Given the description of an element on the screen output the (x, y) to click on. 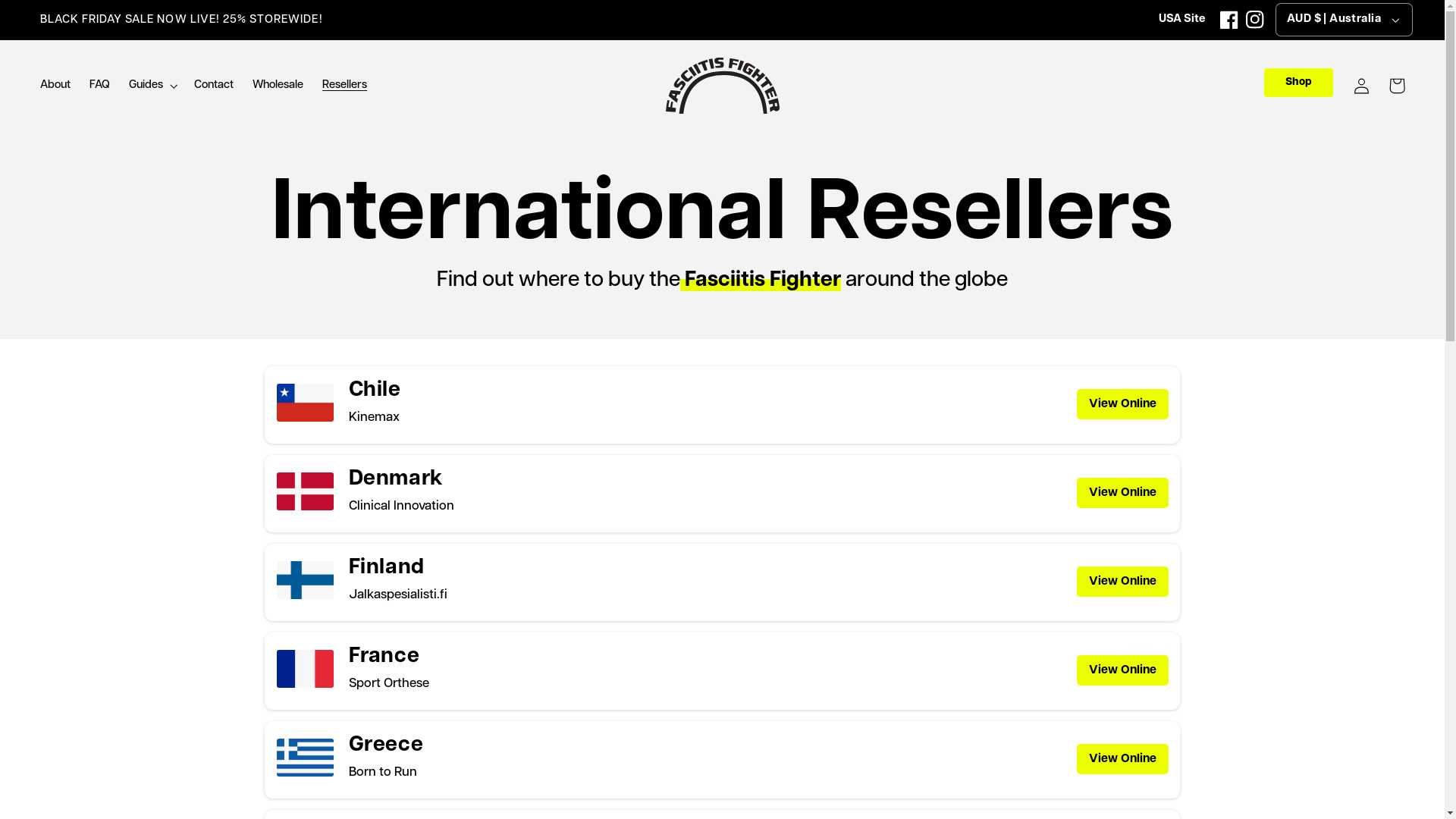
About Element type: text (54, 85)
View Online Element type: text (1122, 492)
FAQ Element type: text (99, 85)
Log in Element type: text (1361, 85)
Cart Element type: text (1396, 85)
Facebook Element type: text (1229, 19)
Instagram Element type: text (1254, 19)
AUD $ | Australia Element type: text (1343, 19)
View Online Element type: text (1122, 670)
View Online Element type: text (1122, 758)
View Online Element type: text (1122, 404)
USA Site Element type: text (1181, 19)
Wholesale Element type: text (277, 85)
View Online Element type: text (1122, 581)
Contact Element type: text (213, 85)
Shop Element type: text (1298, 82)
Resellers Element type: text (344, 85)
